Given the description of an element on the screen output the (x, y) to click on. 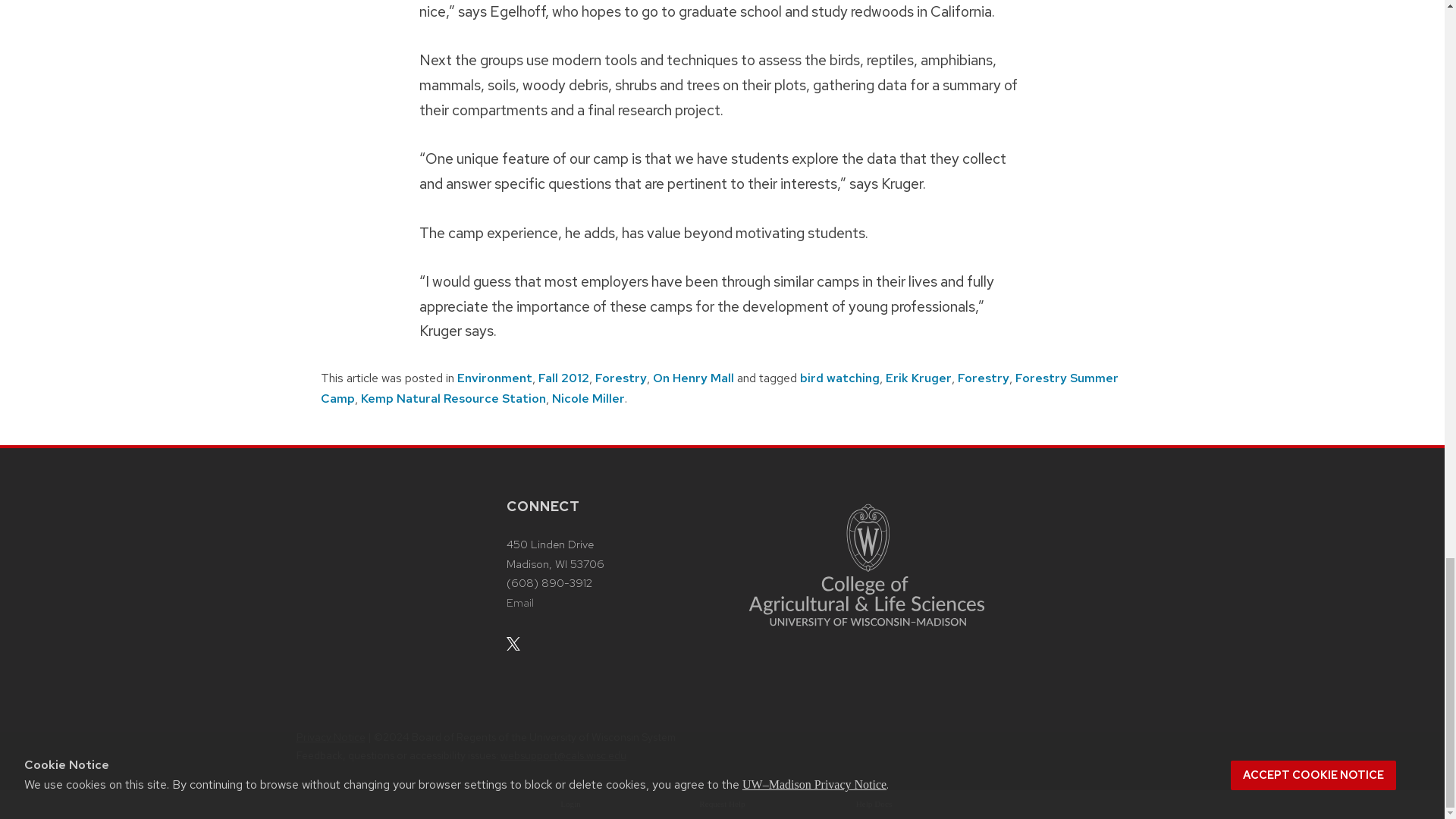
Erik Kruger (918, 377)
On Henry Mall (692, 377)
Nicole Miller (587, 398)
Environment (494, 377)
bird watching (839, 377)
Forestry Summer Camp (719, 388)
Fall 2012 (563, 377)
Forestry (620, 377)
Forestry (982, 377)
Kemp Natural Resource Station (453, 398)
